Given the description of an element on the screen output the (x, y) to click on. 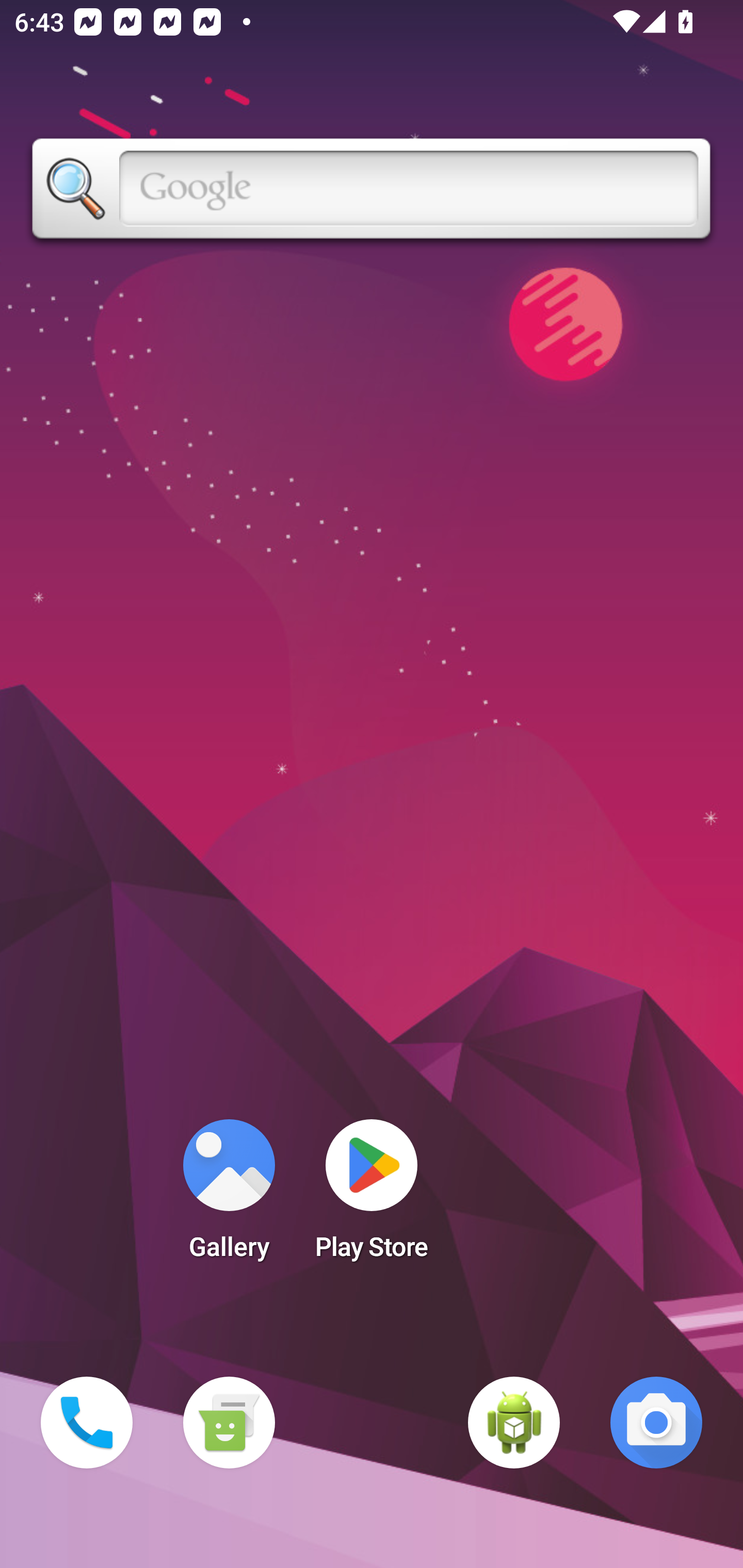
Gallery (228, 1195)
Play Store (371, 1195)
Phone (86, 1422)
Messaging (228, 1422)
WebView Browser Tester (513, 1422)
Camera (656, 1422)
